Given the description of an element on the screen output the (x, y) to click on. 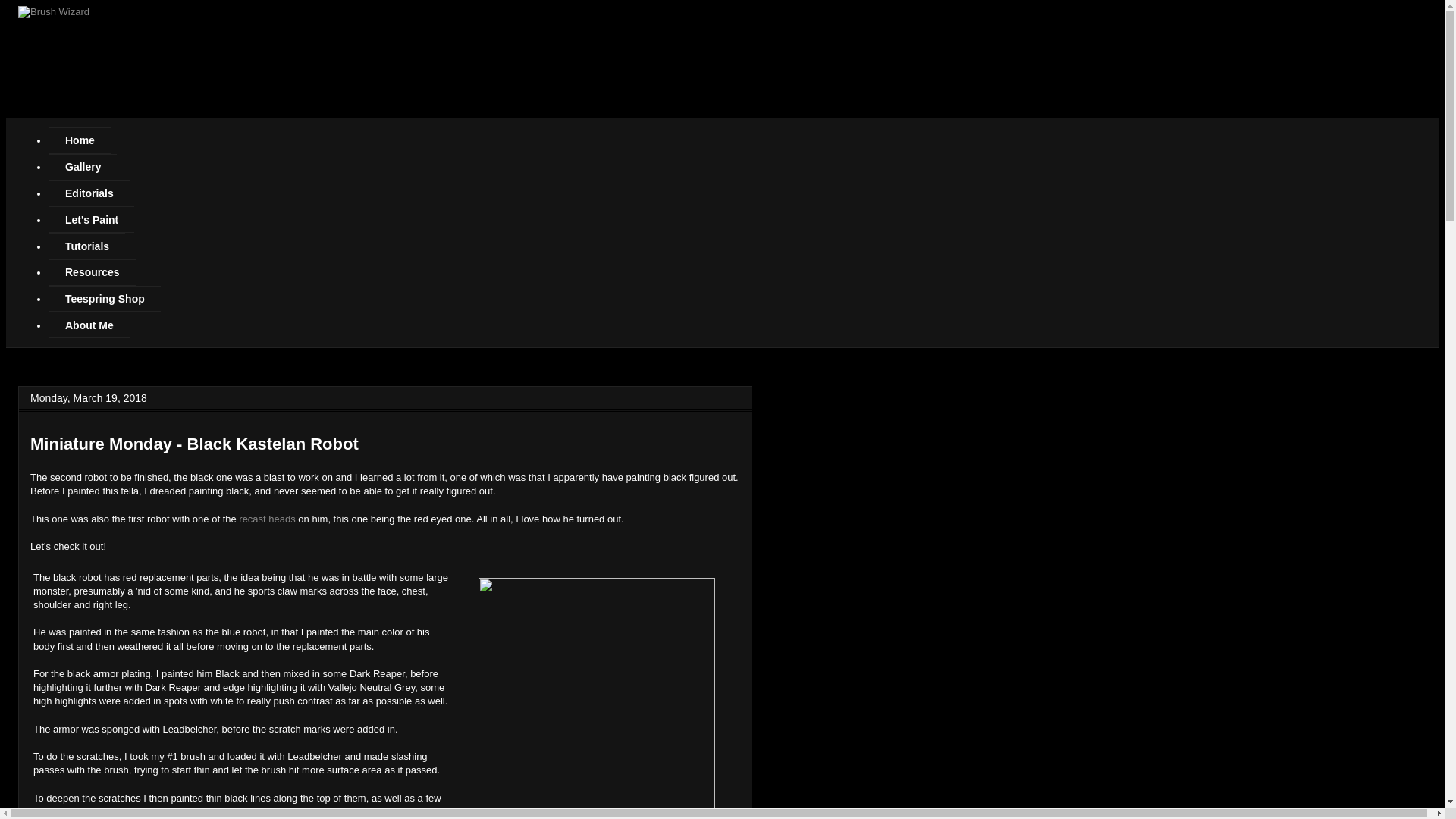
About Me (89, 325)
Let's Paint (90, 219)
Tutorials (86, 245)
Resources (91, 272)
Editorials (88, 193)
Gallery (82, 166)
recast heads (266, 518)
Home (79, 140)
Teespring Shop (104, 298)
